Given the description of an element on the screen output the (x, y) to click on. 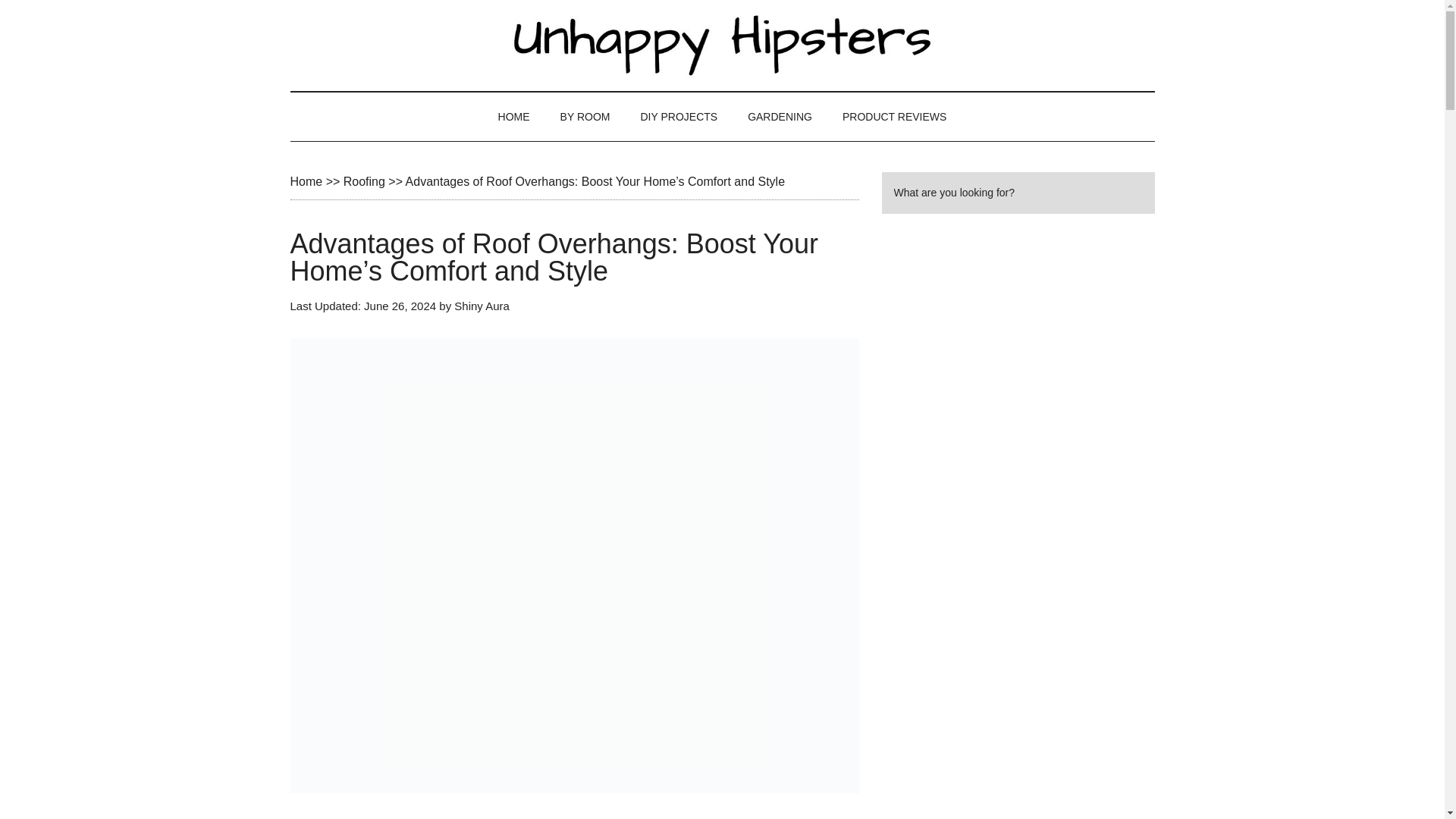
GARDENING (779, 116)
Roofing (364, 181)
HOME (513, 116)
PRODUCT REVIEWS (893, 116)
BY ROOM (585, 116)
Unhappy Hipsters (721, 45)
DIY PROJECTS (678, 116)
Home (305, 181)
